Given the description of an element on the screen output the (x, y) to click on. 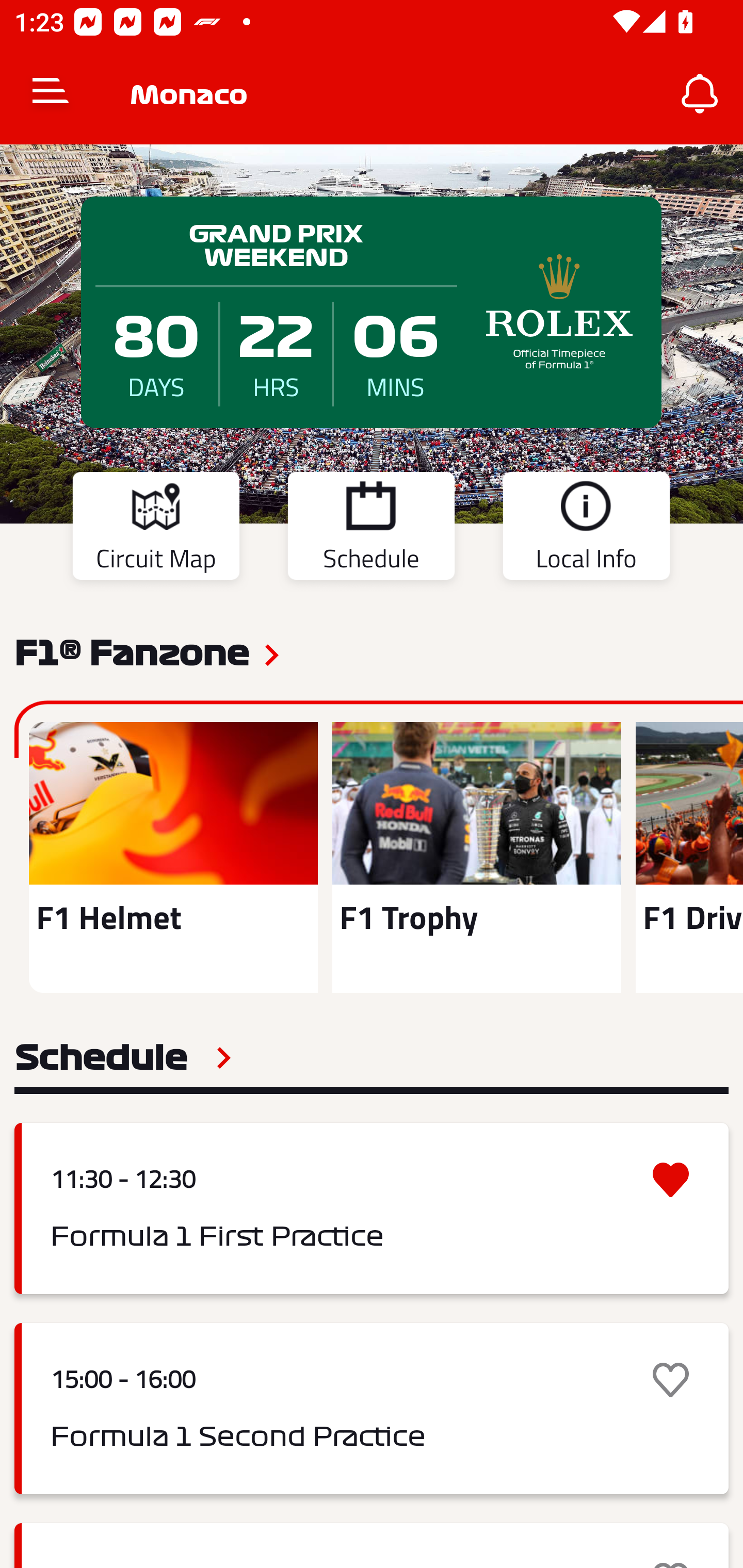
Navigate up (50, 93)
Notifications (699, 93)
Circuit Map (155, 528)
Schedule (370, 528)
Local Info (586, 528)
F1® Fanzone (131, 651)
F1 Helmet (173, 857)
F1 Trophy (476, 857)
Schedule (122, 1057)
11:30 - 12:30 Formula 1 First Practice (371, 1207)
15:00 - 16:00 Formula 1 Second Practice (371, 1408)
